Given the description of an element on the screen output the (x, y) to click on. 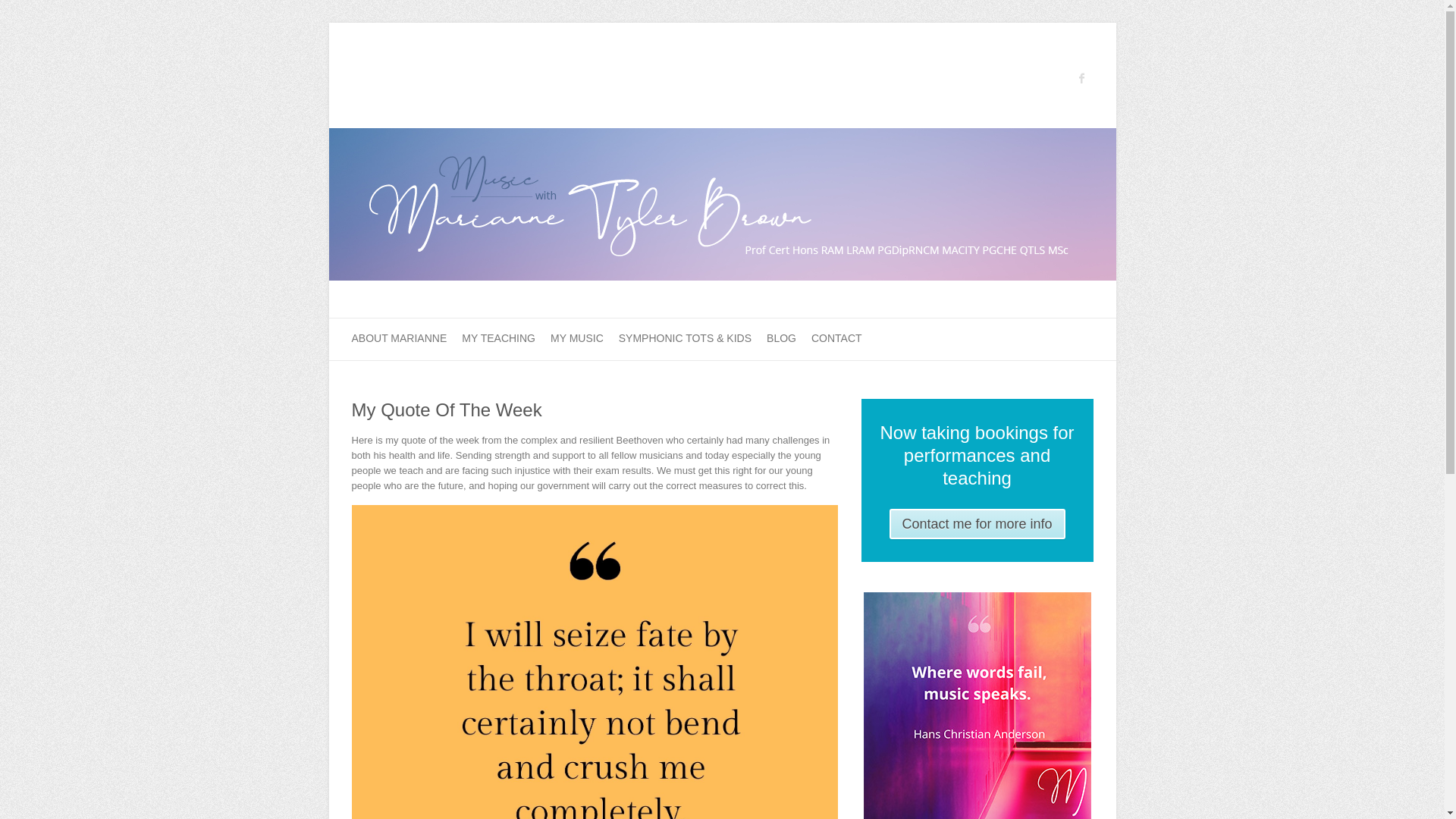
Contact me for more info (976, 523)
CONTACT (835, 339)
Contact me for more info (976, 523)
MY MUSIC (577, 339)
Marianne Tyler Brown on Facebook (1081, 77)
Marianne Tyler Brown Facebook (1081, 77)
Marianne Tyler Brown (722, 134)
ABOUT MARIANNE (399, 339)
MY TEACHING (498, 339)
